Given the description of an element on the screen output the (x, y) to click on. 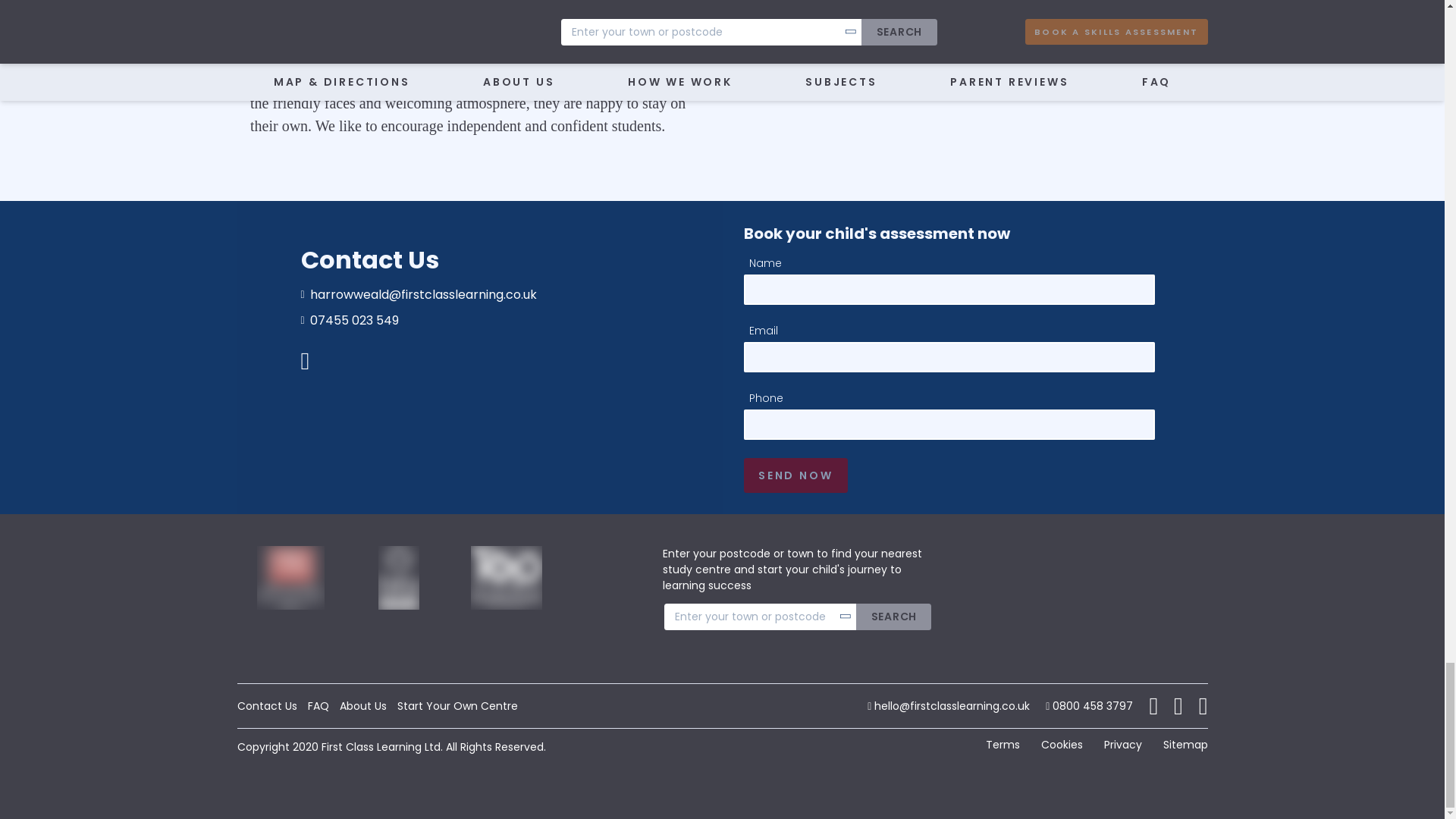
SEND NOW (794, 475)
07455 023 549 (478, 320)
Use your town name or postcode to search (797, 616)
